Given the description of an element on the screen output the (x, y) to click on. 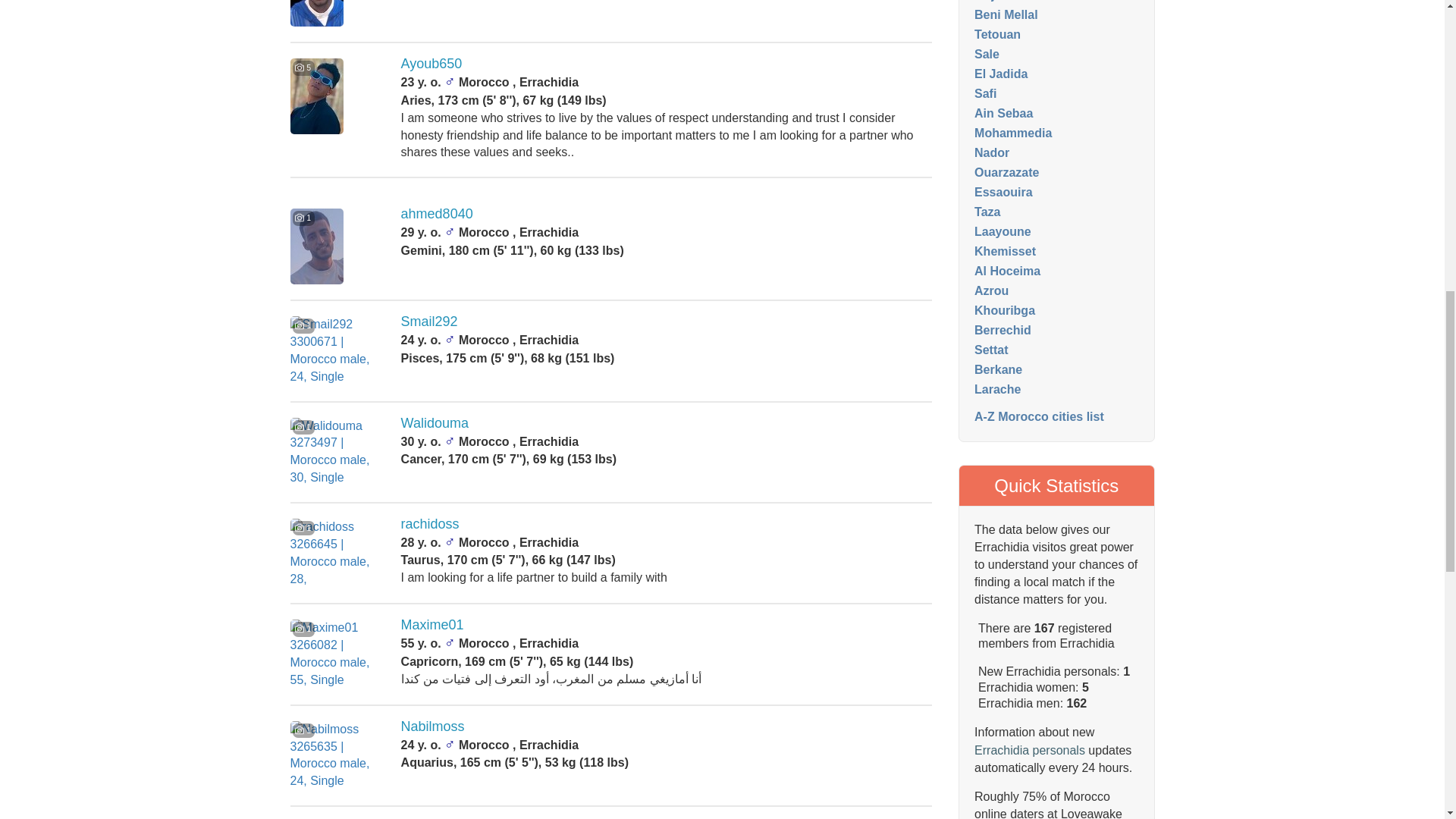
Smail292 (429, 321)
Maxime01 (432, 624)
ahmed8040 (437, 213)
Walidouma (434, 422)
rachidoss (430, 523)
Nabilmoss (432, 726)
Ayoub650 (432, 63)
